Given the description of an element on the screen output the (x, y) to click on. 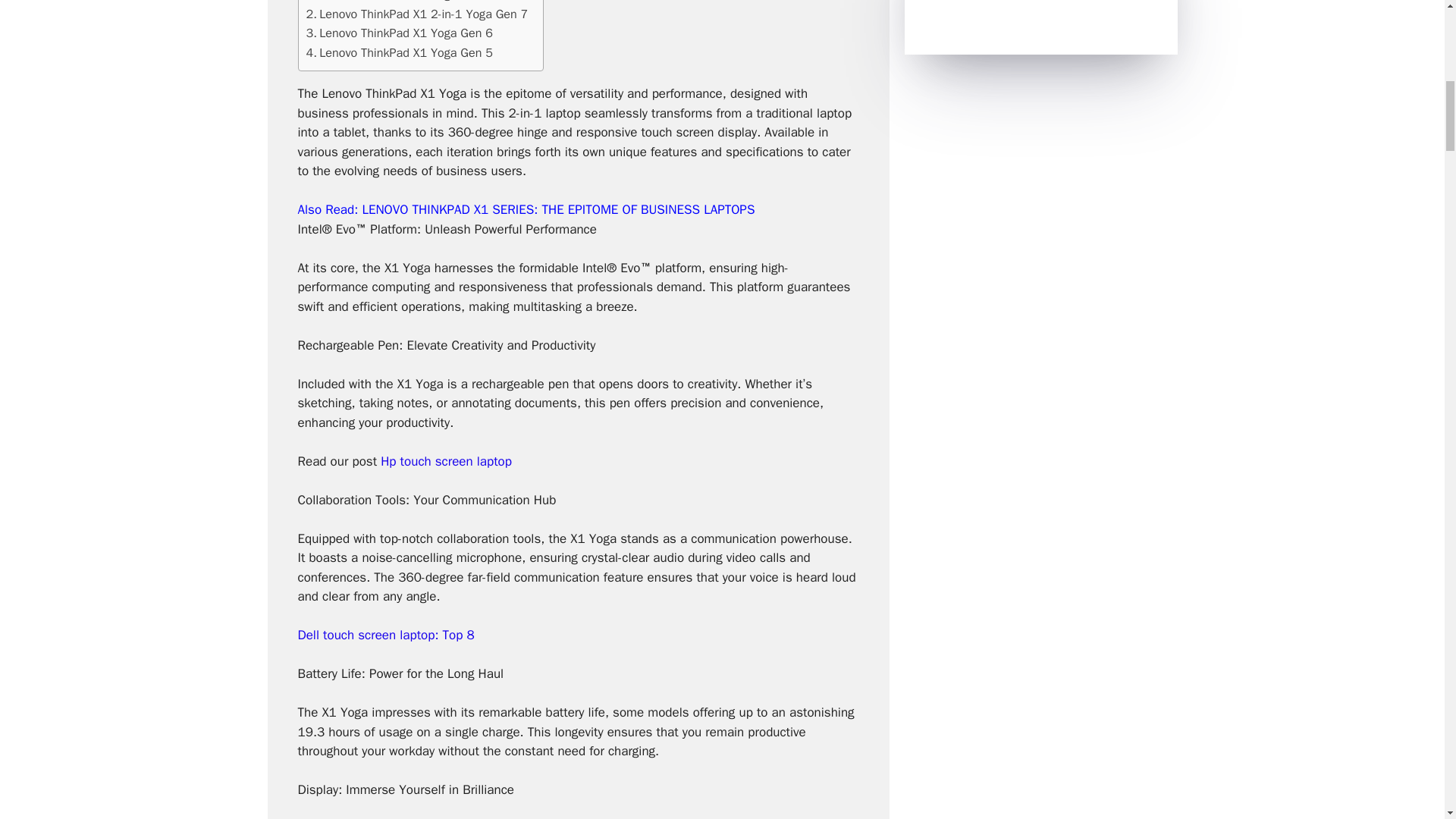
Lenovo ThinkPad X1 Yoga Gen 5 (399, 53)
Lenovo ThinkPad X1 Yoga Gen 8 (399, 2)
Lenovo ThinkPad X1 Yoga Gen 6 (399, 33)
Lenovo ThinkPad X1 Yoga Gen 5 (399, 53)
Lenovo ThinkPad X1 Yoga Gen 8 (399, 2)
Dell touch screen laptop: Top 8 (385, 634)
Hp touch screen laptop (446, 461)
Lenovo ThinkPad X1 Yoga Gen 6 (399, 33)
Lenovo ThinkPad X1 2-in-1 Yoga Gen 7 (416, 14)
